Given the description of an element on the screen output the (x, y) to click on. 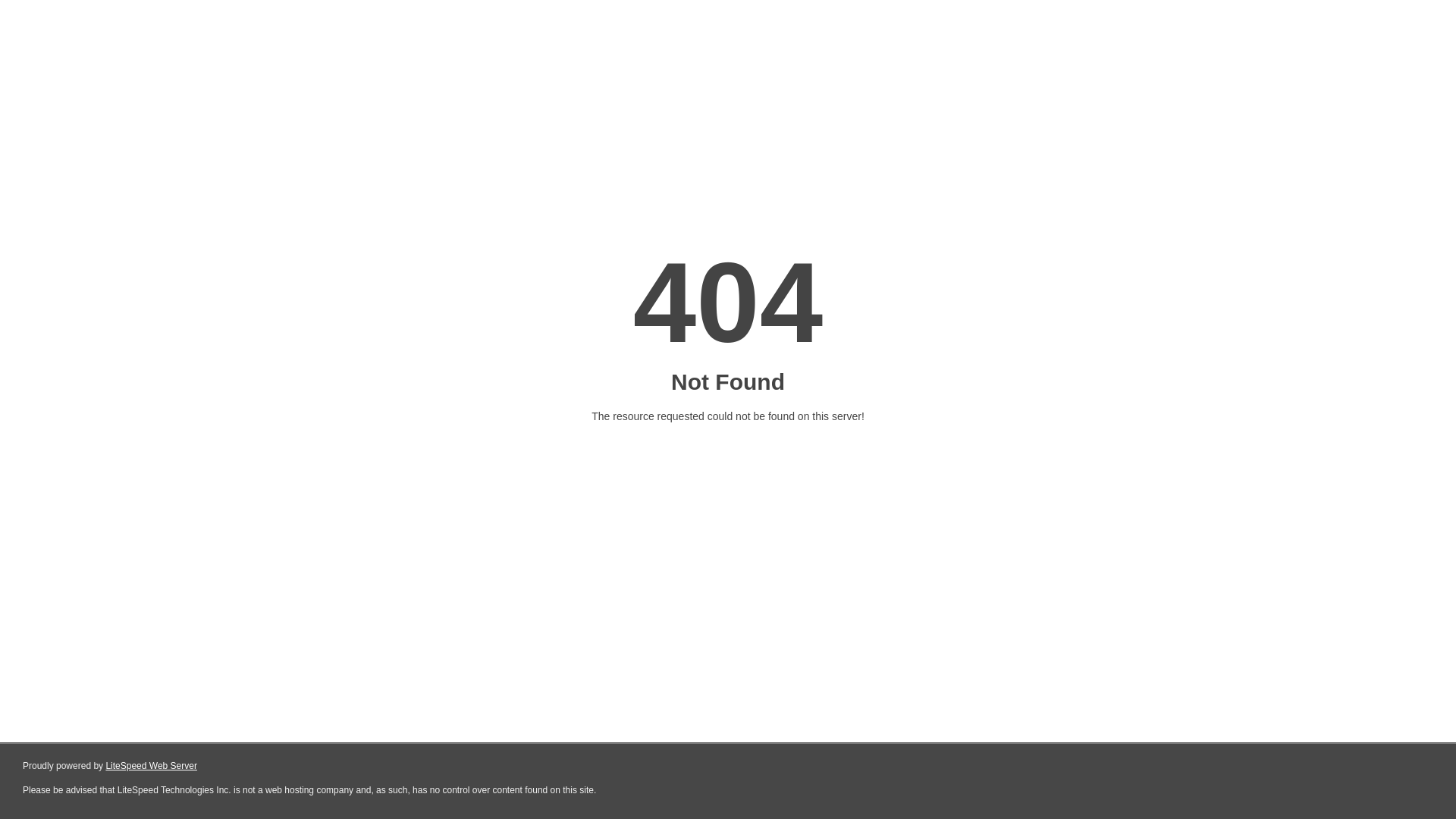
LiteSpeed Web Server Element type: text (151, 765)
